Given the description of an element on the screen output the (x, y) to click on. 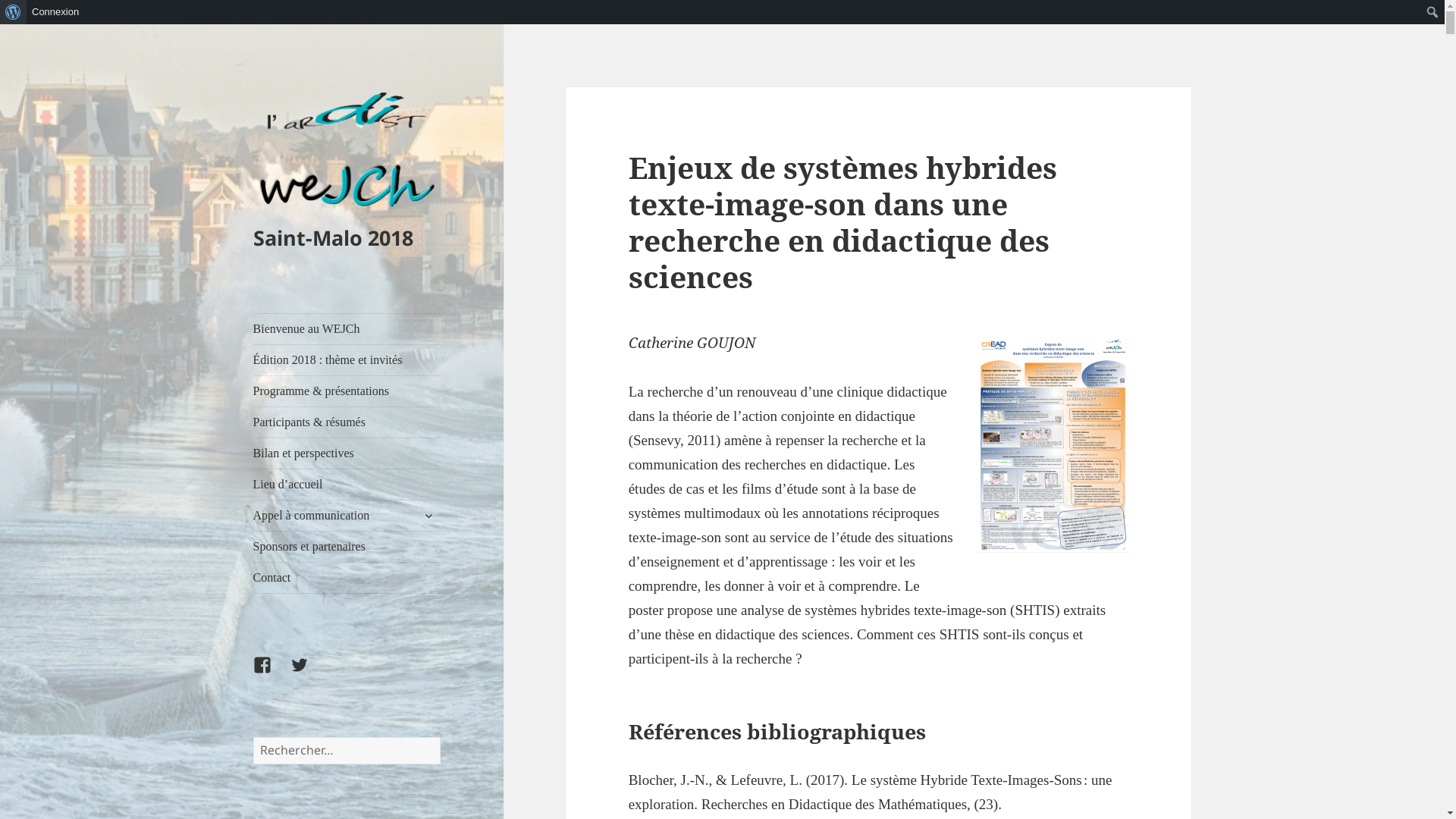
Facebook Element type: text (271, 673)
Rechercher Element type: text (11, 12)
Bienvenue au WEJCh Element type: text (347, 328)
Sponsors et partenaires Element type: text (347, 546)
WEJCh ARDiST 2018 Element type: text (308, 673)
Connexion Element type: text (55, 12)
Bilan et perspectives Element type: text (347, 453)
ouvrir le sous-menu Element type: text (428, 515)
Contact Element type: text (347, 577)
Saint-Malo 2018 Element type: text (333, 237)
Rechercher Element type: text (439, 736)
